Given the description of an element on the screen output the (x, y) to click on. 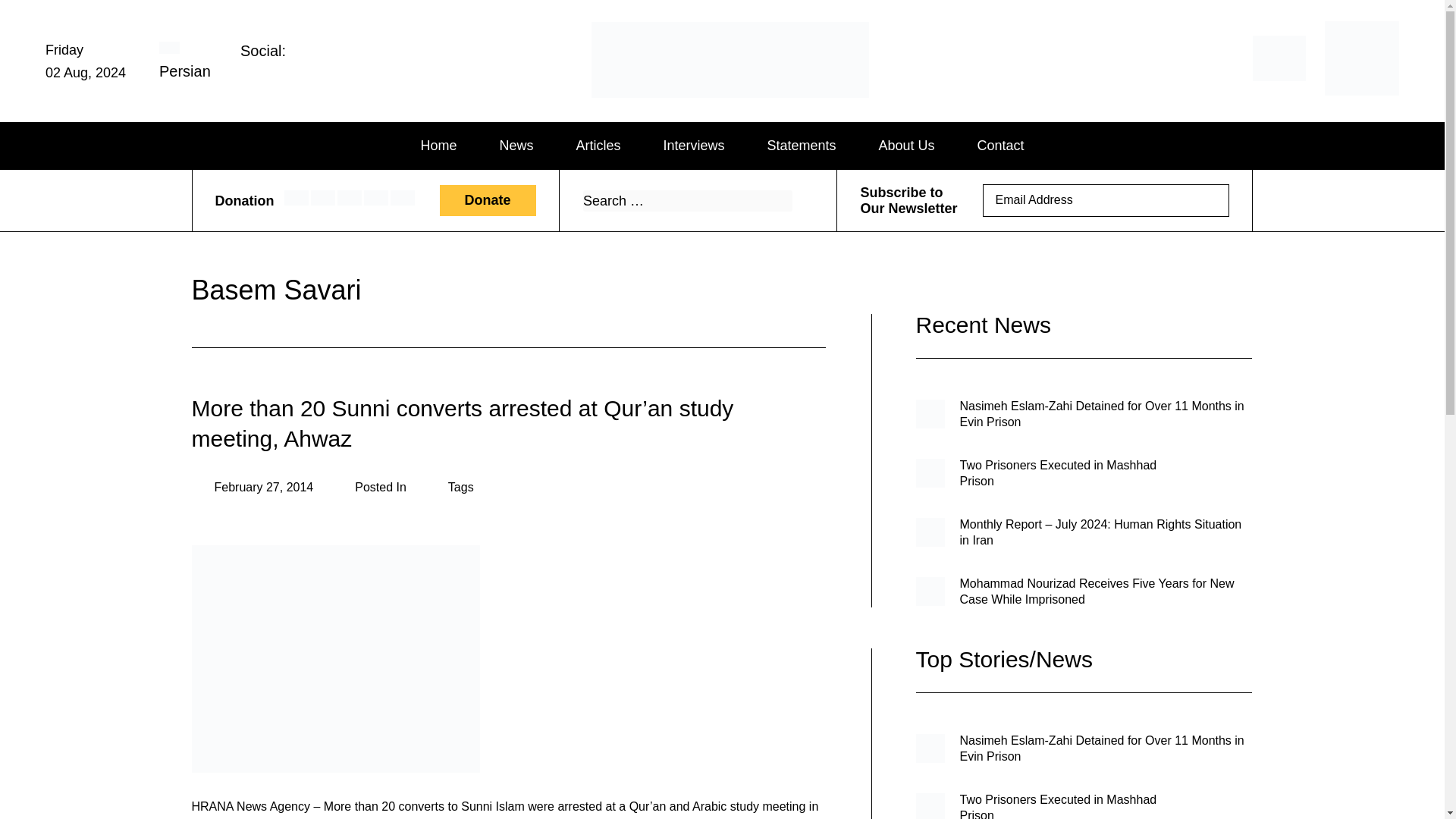
Statements (801, 145)
Donate (487, 200)
Contact (1000, 145)
February 27, 2014 (251, 486)
News (515, 145)
Sign up (1207, 200)
Interviews (693, 145)
Articles (598, 145)
Home (437, 145)
Sign up (1207, 200)
Search (801, 199)
Hrana (644, 101)
Search (801, 199)
About Us (906, 145)
Search (801, 199)
